Given the description of an element on the screen output the (x, y) to click on. 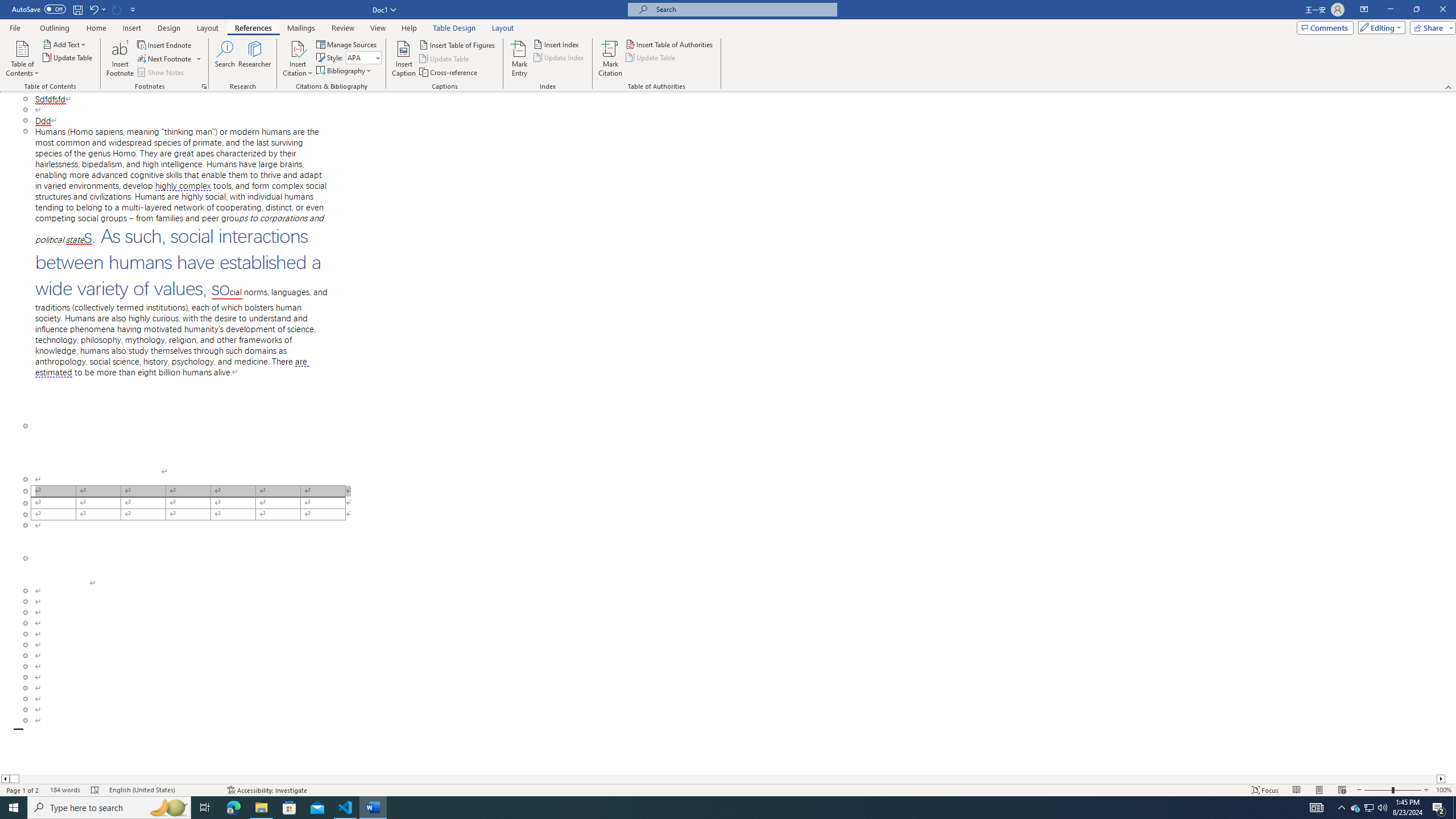
Insert Endnote (165, 44)
Undo Outline Move Up (92, 9)
Zoom 100% (1443, 790)
Insert Table of Authorities... (670, 44)
Add Text (65, 44)
Insert Index... (556, 44)
Mark Citation... (610, 58)
